Given the description of an element on the screen output the (x, y) to click on. 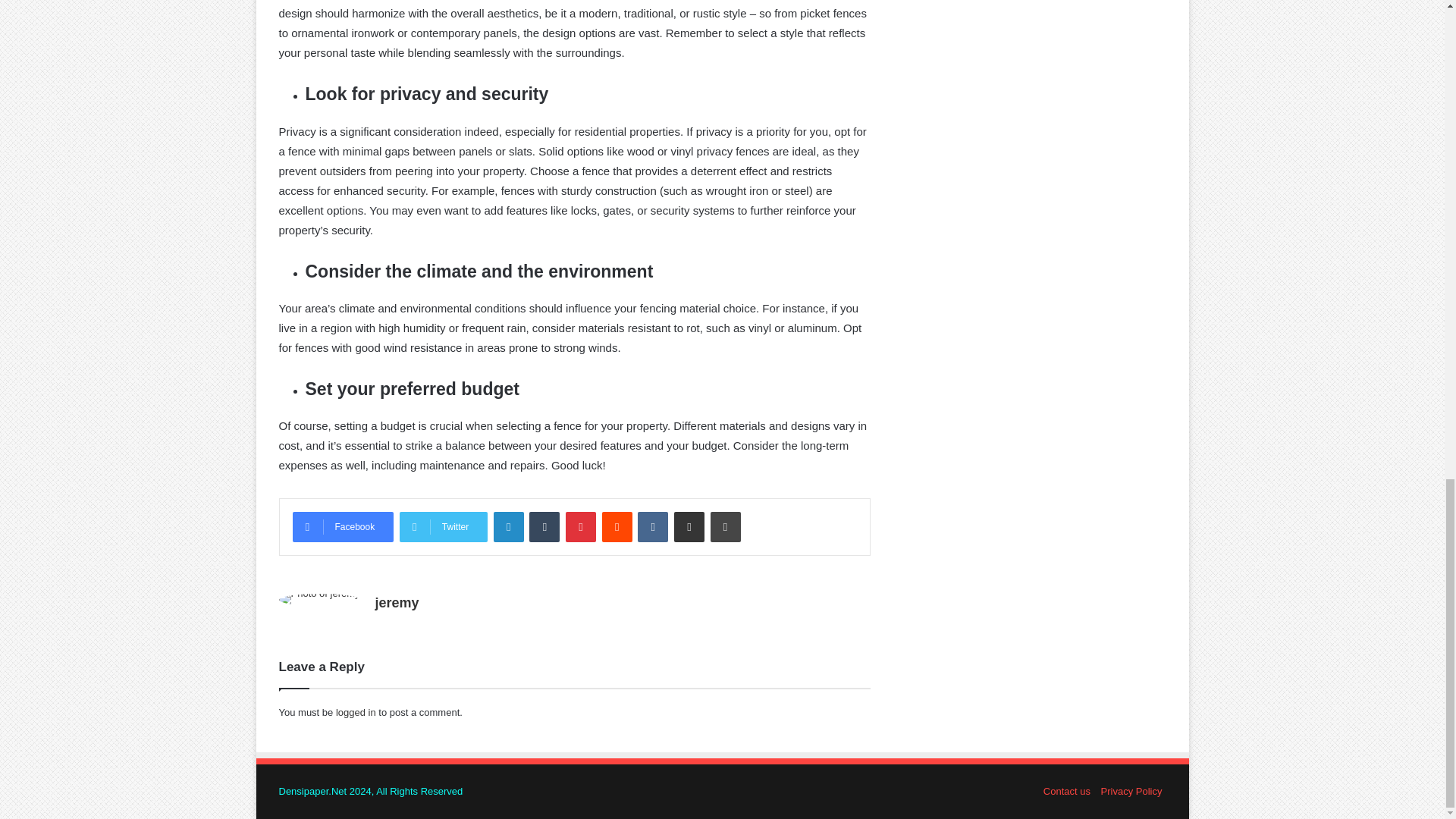
jeremy (397, 602)
VKontakte (652, 526)
Pinterest (580, 526)
LinkedIn (508, 526)
Contact us (1066, 790)
Twitter (442, 526)
Facebook (343, 526)
Print (725, 526)
Privacy Policy (1130, 790)
Share via Email (689, 526)
Tumblr (544, 526)
Share via Email (689, 526)
Tumblr (544, 526)
Facebook (343, 526)
Twitter (442, 526)
